Given the description of an element on the screen output the (x, y) to click on. 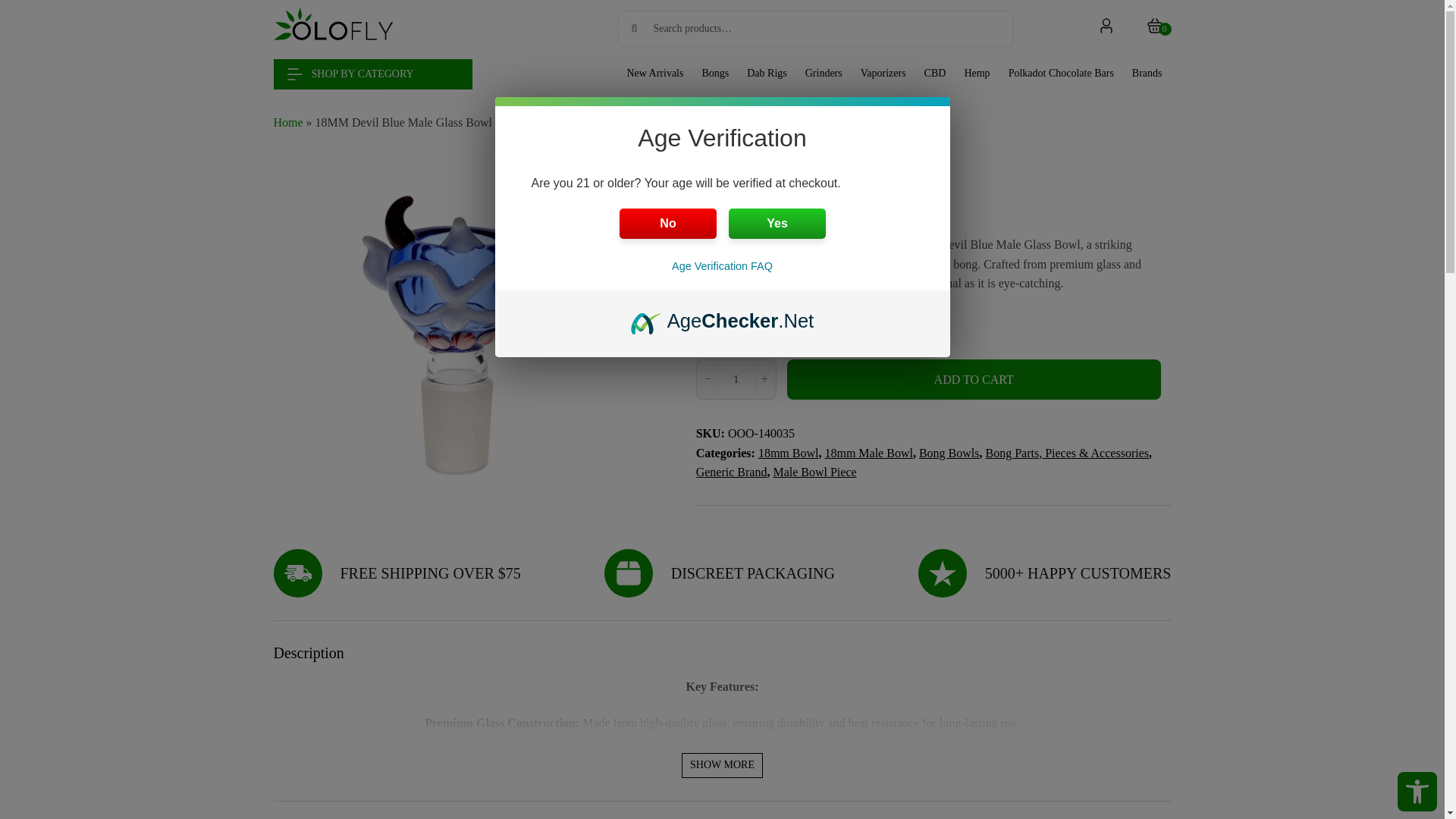
18MM Devil Blue Male Glass Bowl (457, 335)
CBD (935, 74)
Vaporizers (882, 74)
Dab Rigs (766, 74)
Grinders (824, 74)
Qty (735, 380)
Bongs (715, 74)
Hemp (976, 74)
Brands (1146, 74)
1 (735, 380)
Open toolbar (1417, 791)
New Arrivals (654, 74)
Accessibility Tools (1417, 791)
